Given the description of an element on the screen output the (x, y) to click on. 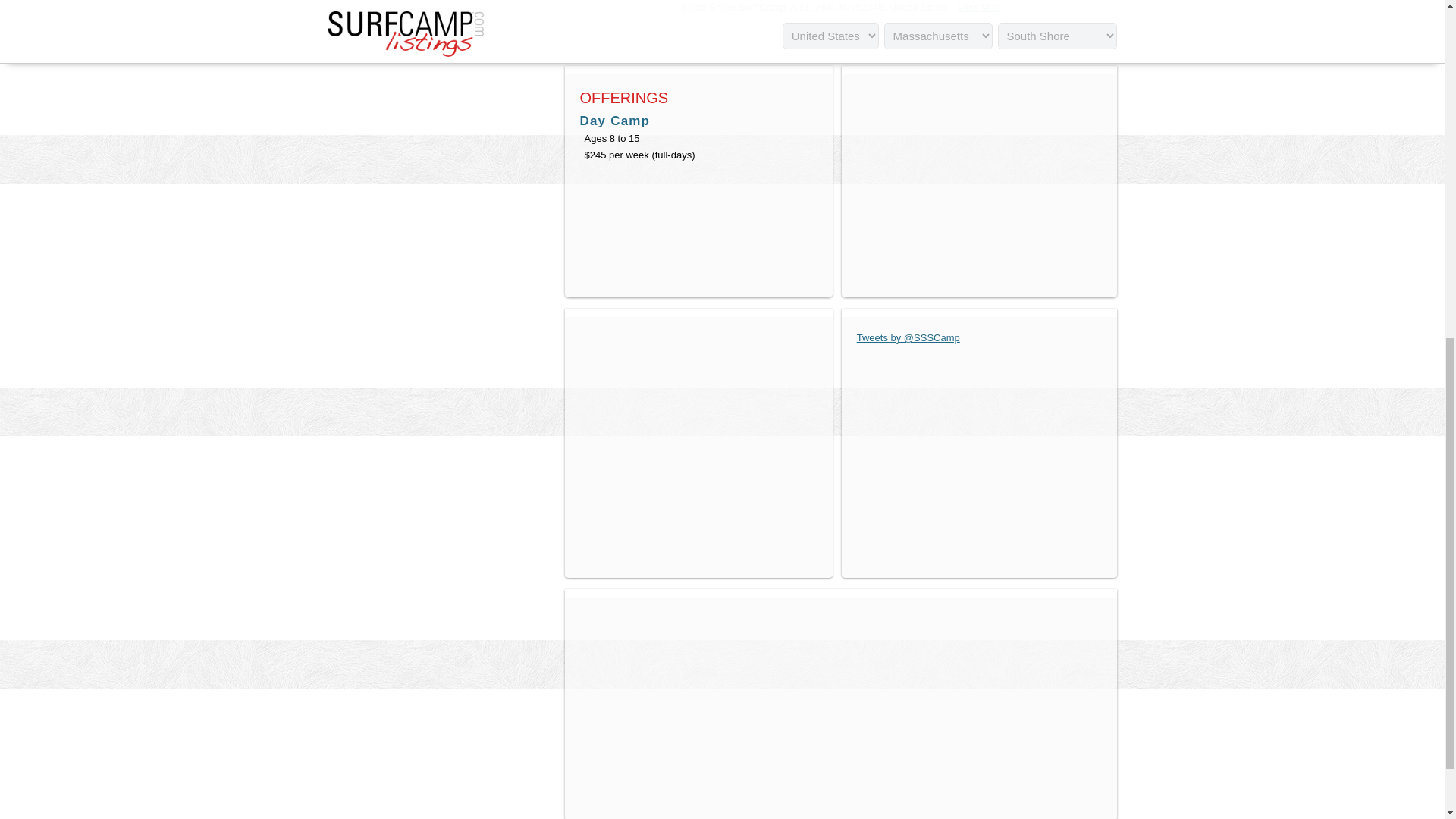
Advertisement (440, 83)
View Map (978, 7)
WEBSITE (807, 32)
Phone (866, 32)
Advertisement (978, 183)
Visit South Shore Surf Camp's Website (807, 32)
